Given the description of an element on the screen output the (x, y) to click on. 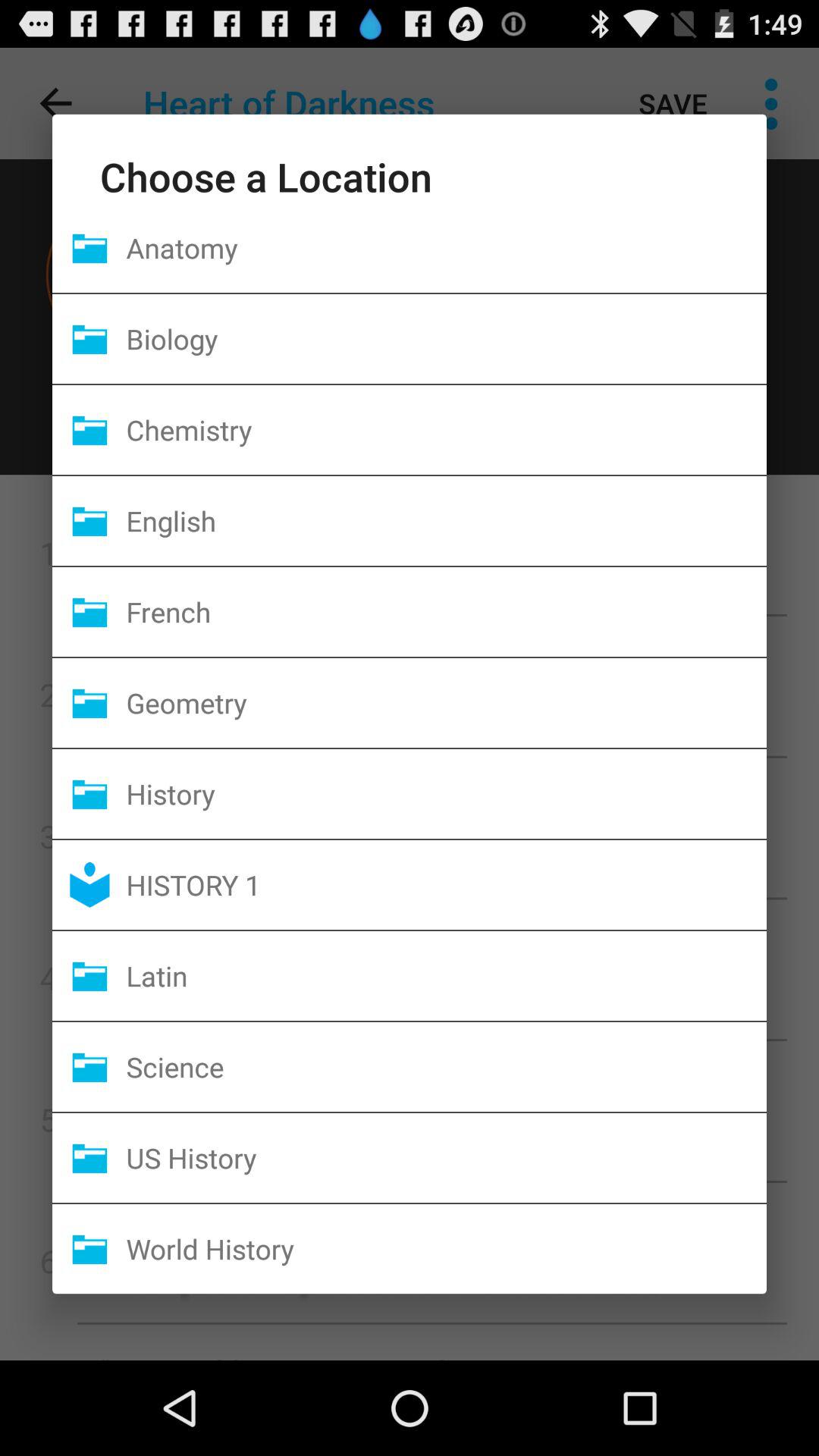
scroll until us history icon (446, 1157)
